Given the description of an element on the screen output the (x, y) to click on. 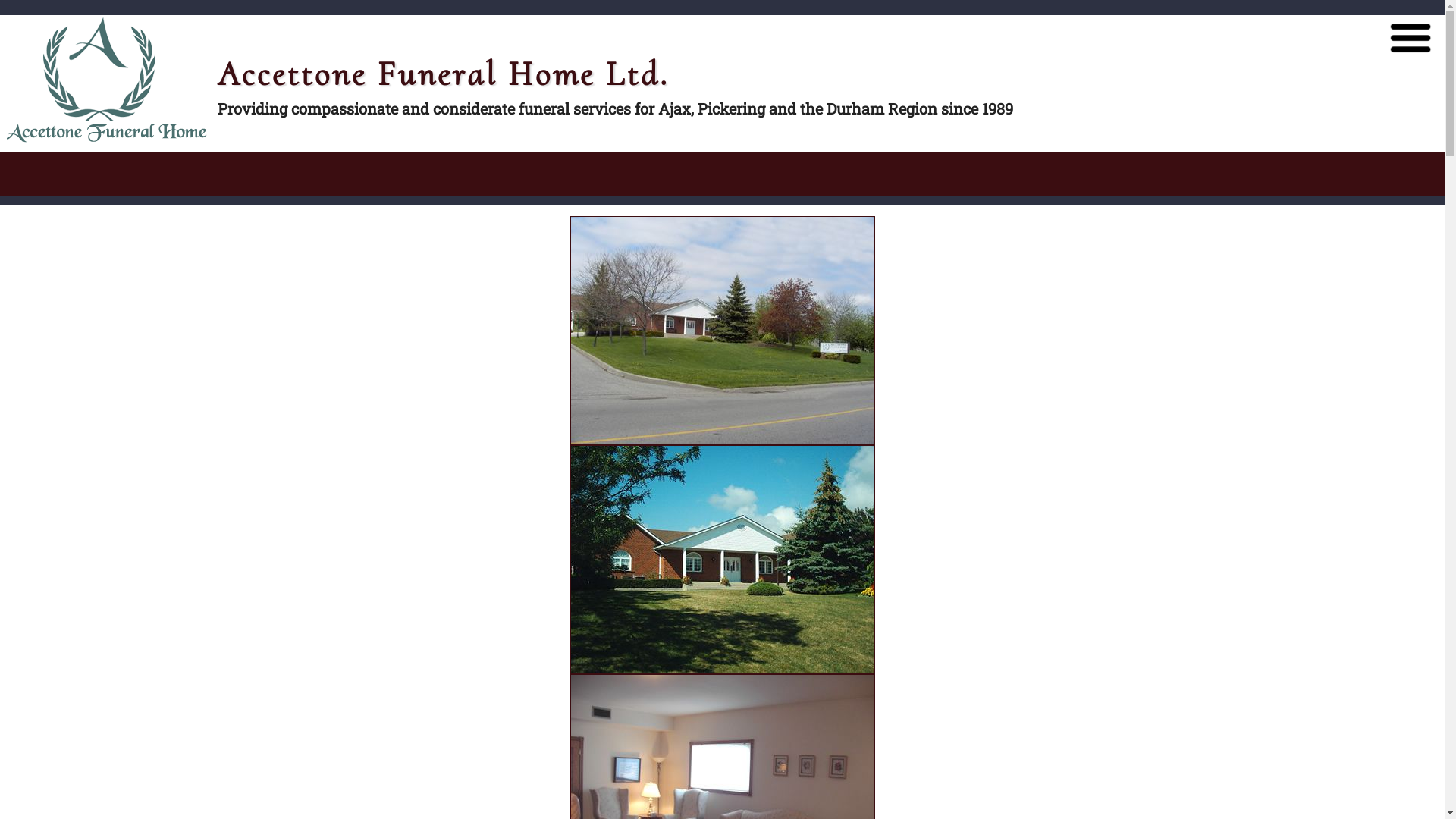
AjaxFuneralHome Logo Element type: hover (108, 80)
Accettone Funeral Home Ltd. Element type: hover (722, 330)
Open mobile menu Element type: hover (1410, 37)
Accettone Funeral Home Ltd. Element type: hover (722, 559)
